Given the description of an element on the screen output the (x, y) to click on. 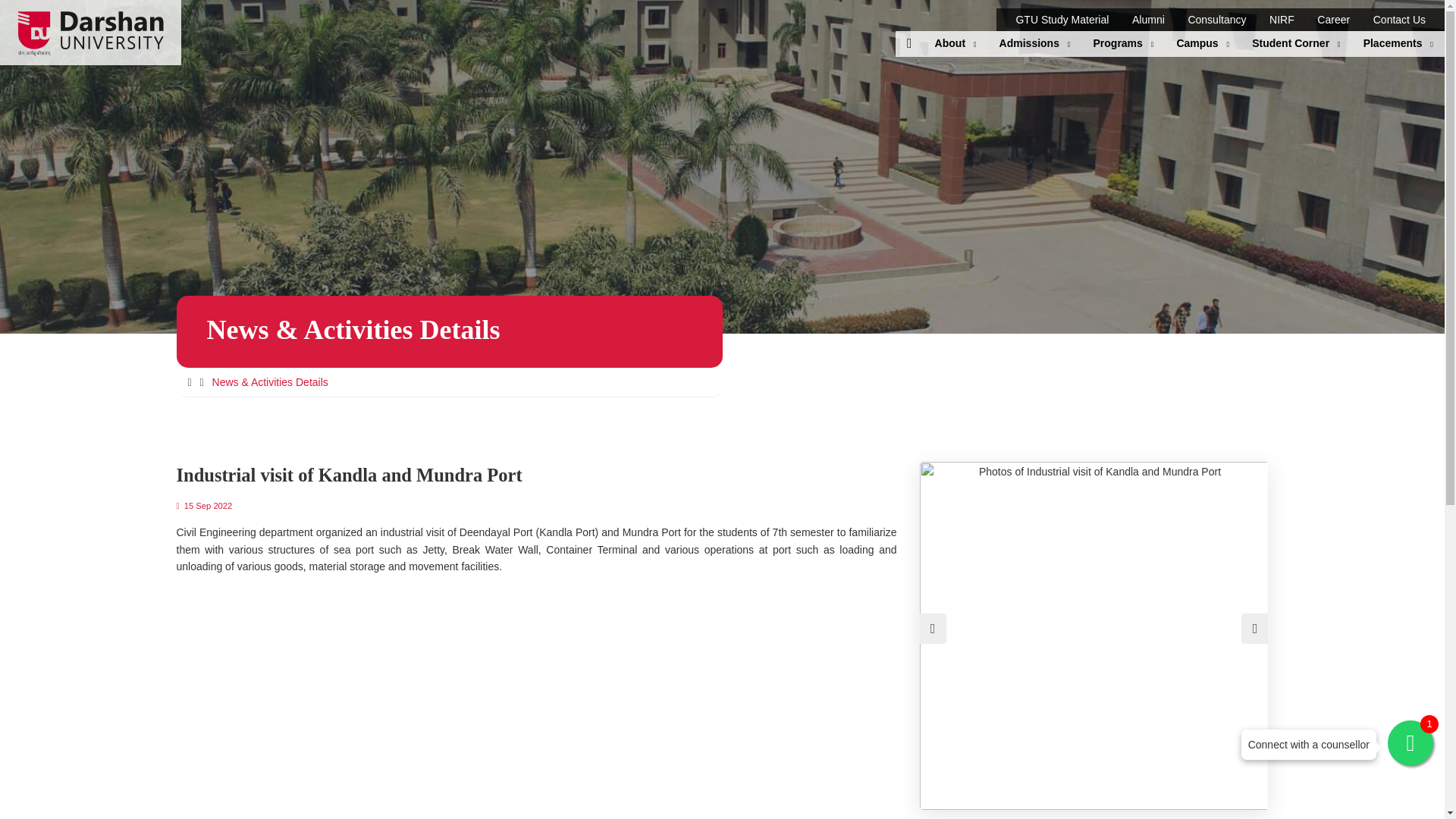
About (955, 43)
NIRF (1281, 19)
GTU Study Material (1061, 19)
Contact Us (1398, 19)
Admissions (1034, 43)
Consultancy (1216, 19)
Alumni (1148, 19)
Career (1332, 19)
